Given the description of an element on the screen output the (x, y) to click on. 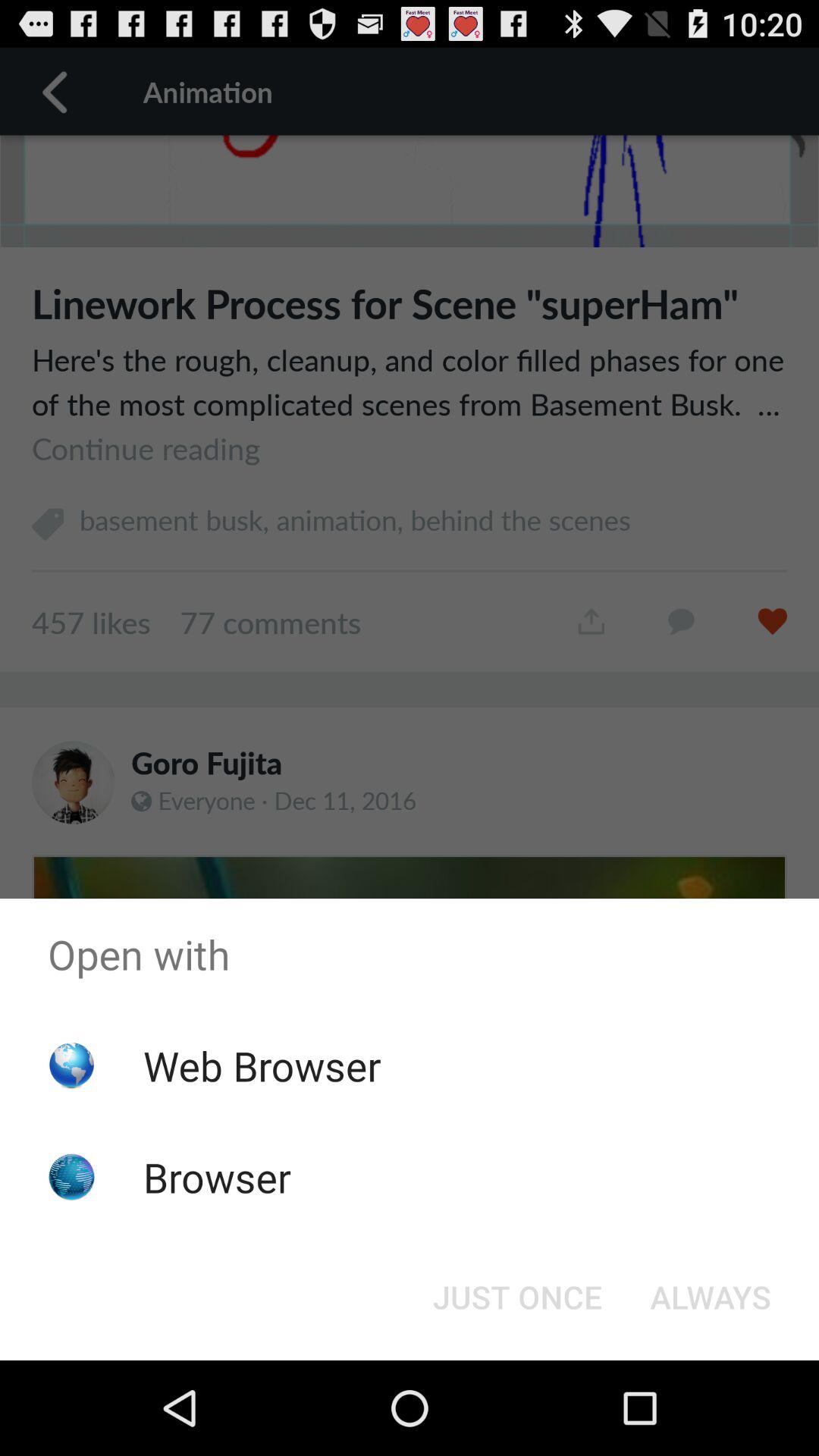
flip to always button (710, 1296)
